Given the description of an element on the screen output the (x, y) to click on. 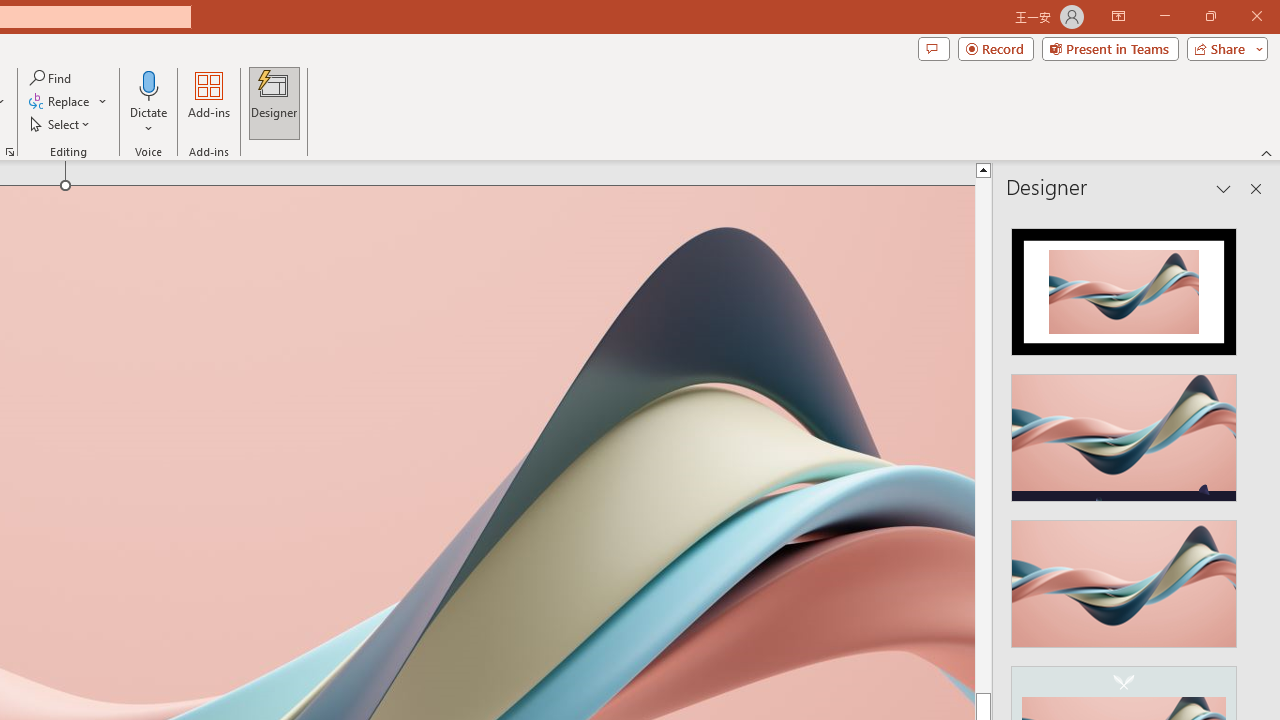
Context help (201, 493)
Find Next (226, 527)
Select (61, 124)
Replace All (226, 605)
